Given the description of an element on the screen output the (x, y) to click on. 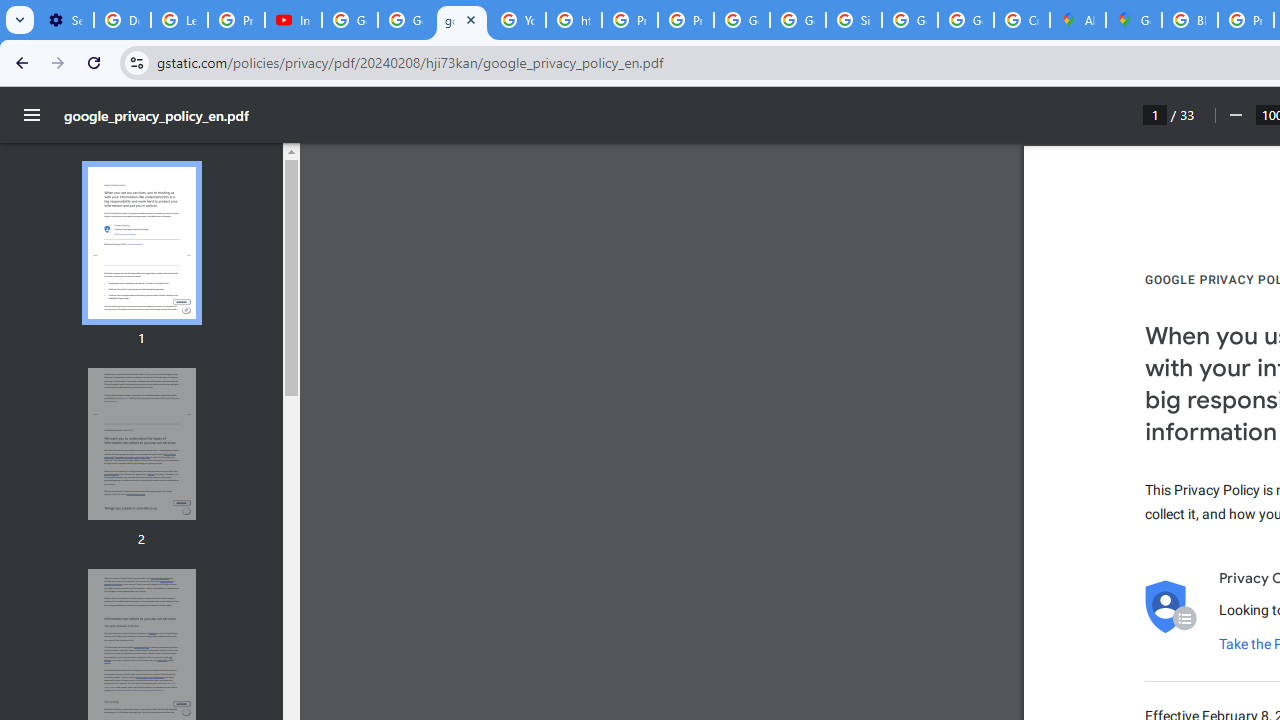
Google Maps (1133, 20)
Zoom out (1234, 115)
Introduction | Google Privacy Policy - YouTube (293, 20)
Learn how to find your photos - Google Photos Help (179, 20)
Thumbnail for page 1 (141, 243)
google_privacy_policy_en.pdf (461, 20)
Privacy Help Center - Policies Help (629, 20)
